Given the description of an element on the screen output the (x, y) to click on. 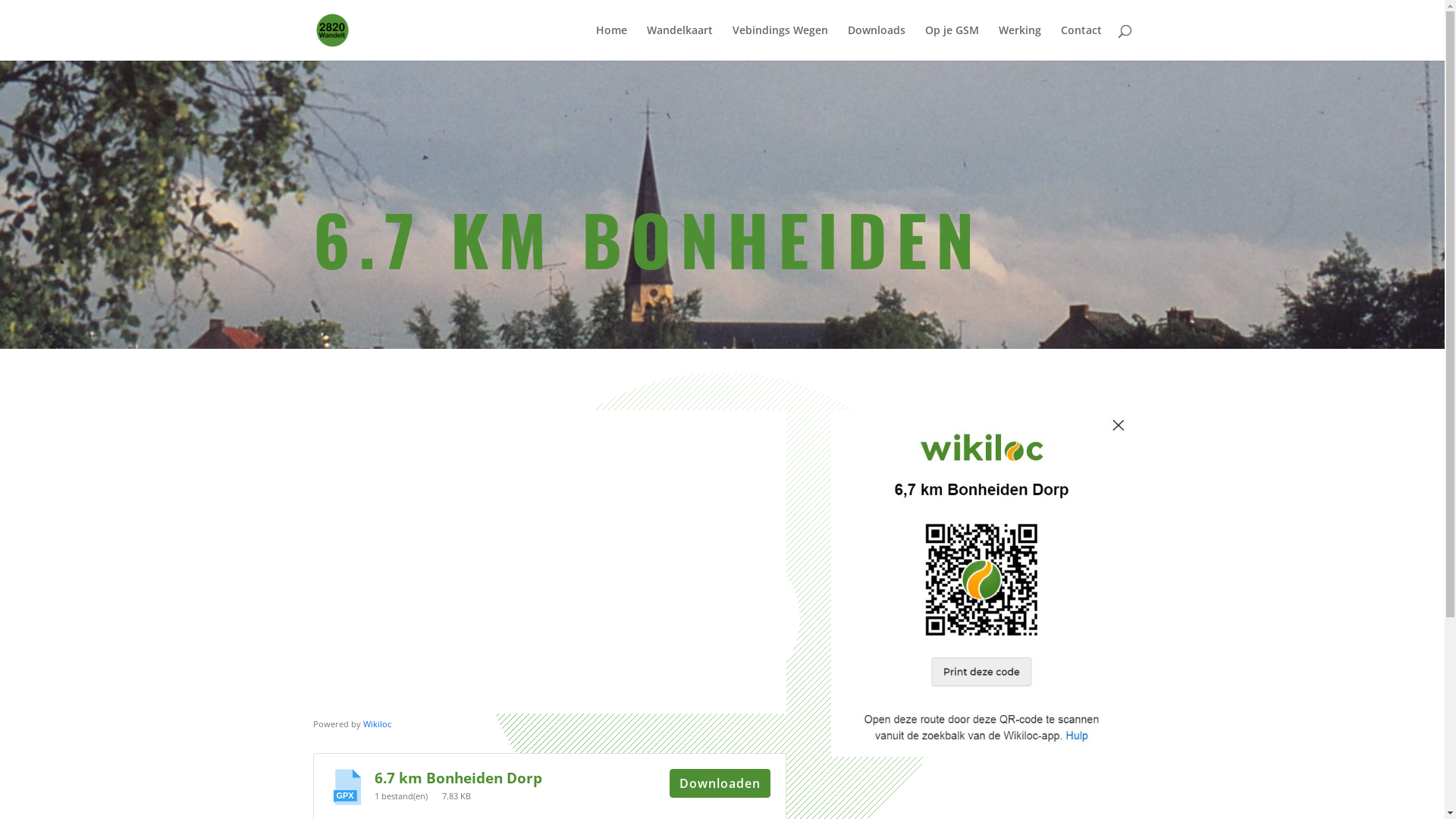
Downloaden Element type: text (719, 782)
Werking Element type: text (1018, 42)
Op je GSM Element type: text (952, 42)
Vebindings Wegen Element type: text (780, 42)
6.7 km Bonheiden Dorp Element type: text (458, 777)
Wikiloc Element type: text (376, 723)
wikiloc 1 Element type: hover (981, 583)
Contact Element type: text (1080, 42)
Downloads Element type: text (876, 42)
Wandelkaart Element type: text (679, 42)
Home Element type: text (611, 42)
